Given the description of an element on the screen output the (x, y) to click on. 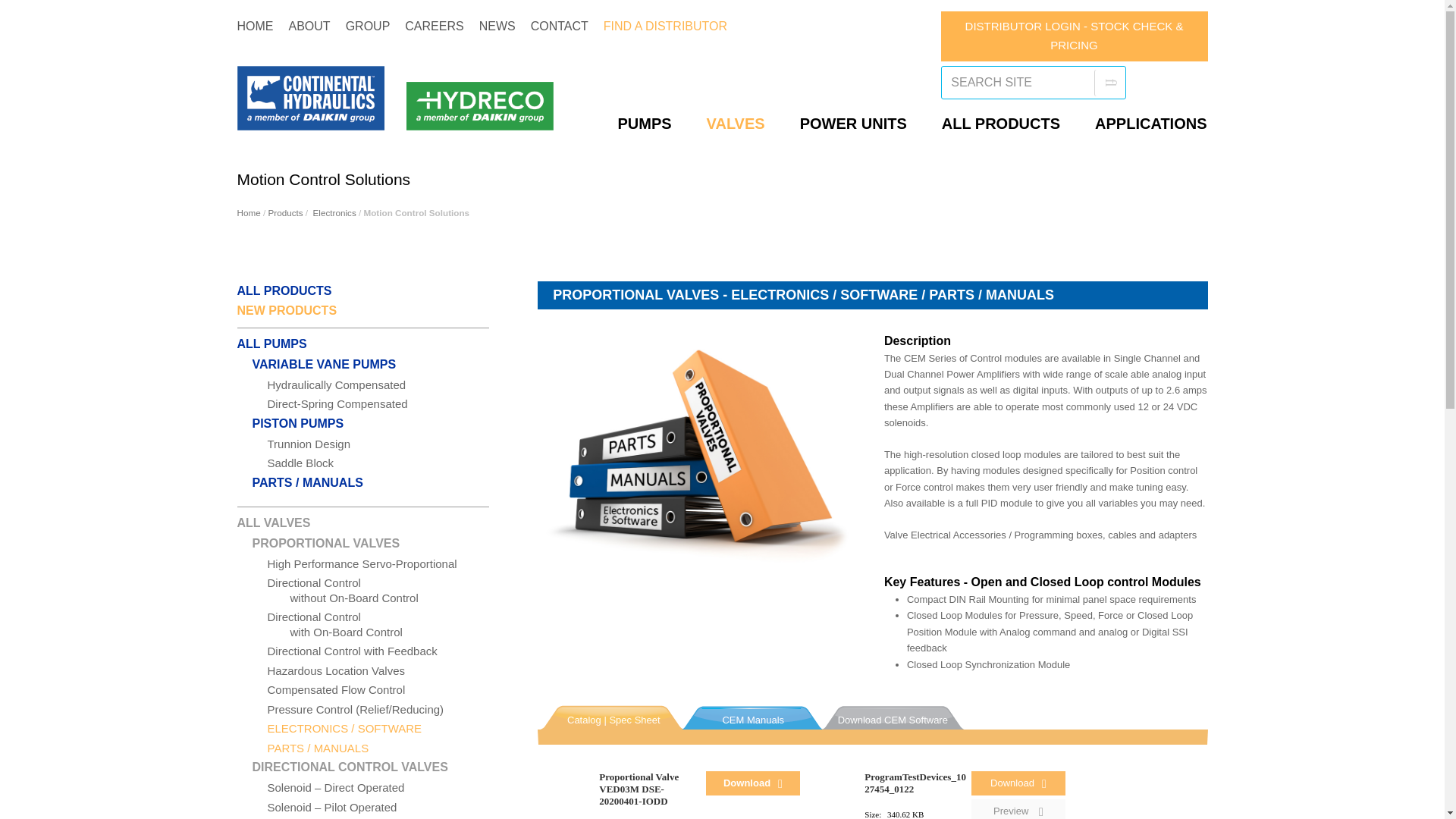
HOME (254, 25)
PUMPS (646, 123)
Proportional Valve VED03M DSE-20200401-IODD (638, 788)
CAREERS (433, 25)
ABOUT (309, 25)
GROUP (368, 25)
CONTACT (559, 25)
VALVES (737, 123)
Submit (1109, 82)
FIND A DISTRIBUTOR (665, 25)
